Given the description of an element on the screen output the (x, y) to click on. 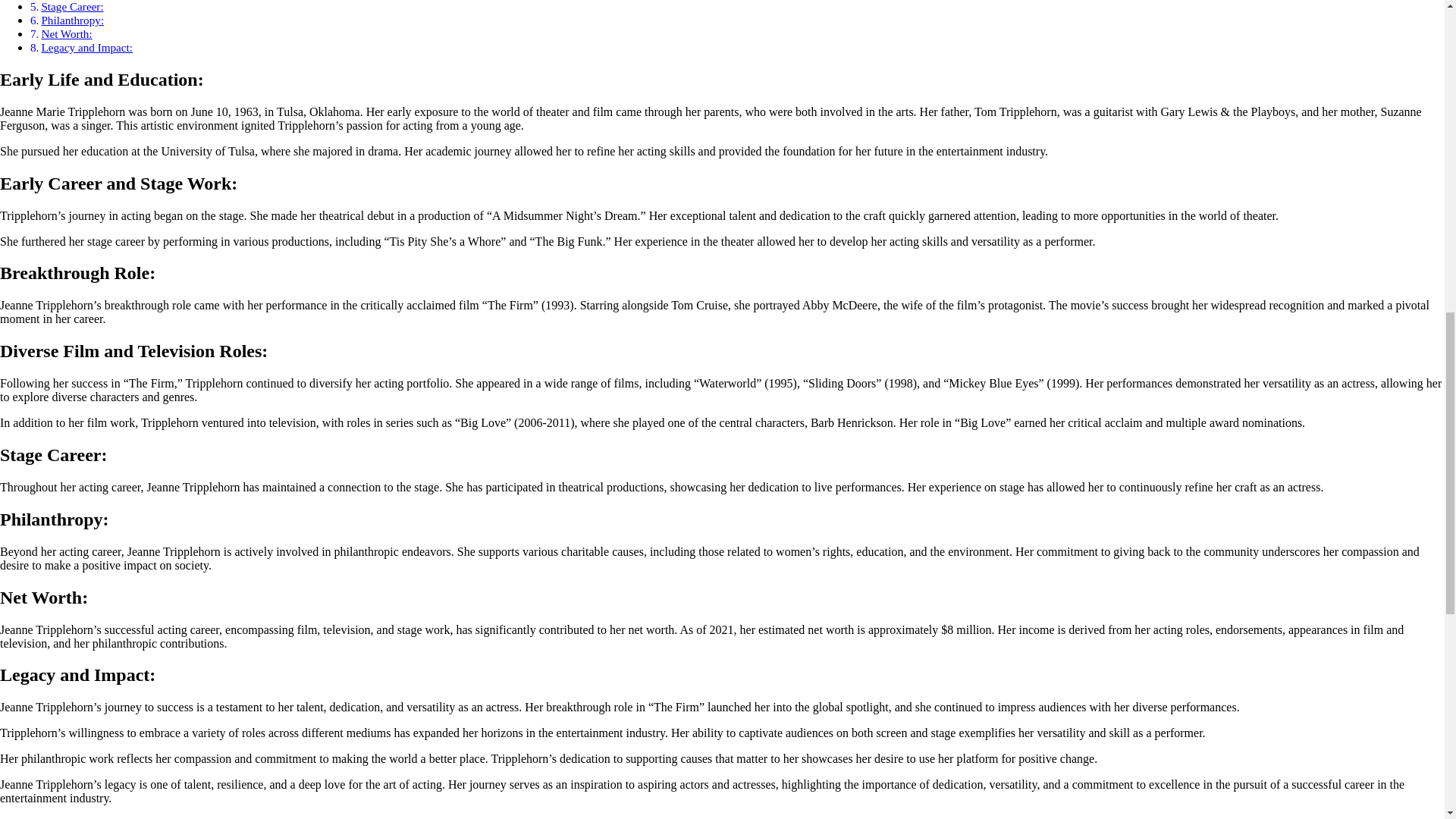
Philanthropy: (71, 19)
Net Worth: (65, 33)
Stage Career: (71, 6)
Stage Career: (71, 6)
Legacy and Impact: (86, 47)
Net Worth: (65, 33)
Legacy and Impact: (86, 47)
Philanthropy: (71, 19)
